Given the description of an element on the screen output the (x, y) to click on. 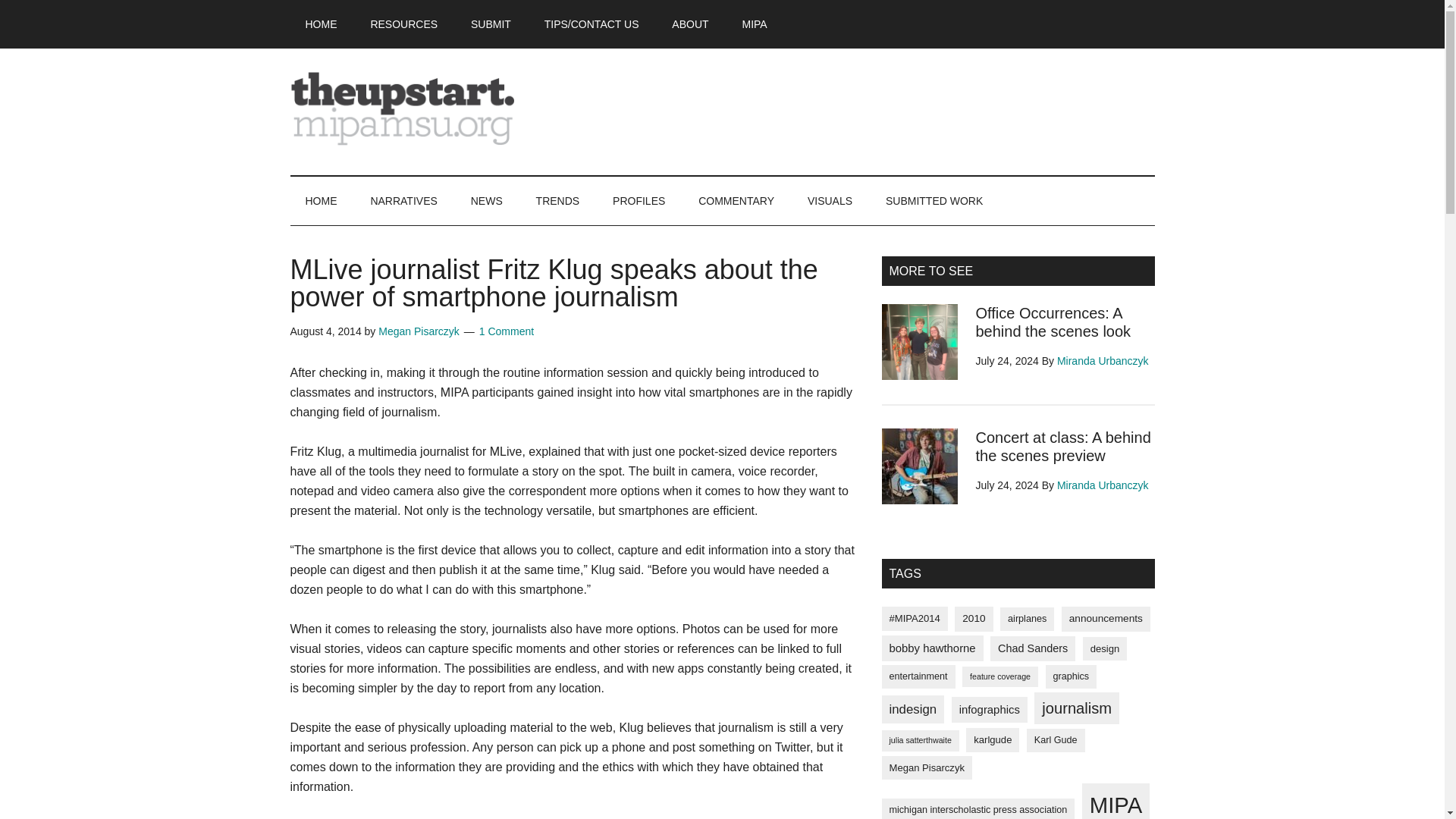
NARRATIVES (403, 200)
1 Comment (506, 331)
COMMENTARY (735, 200)
Megan Pisarczyk (419, 331)
NEWS (486, 200)
SUBMIT (490, 24)
VISUALS (829, 200)
HOME (320, 200)
MIPA (753, 24)
HOME (320, 24)
TRENDS (558, 200)
ABOUT (689, 24)
RESOURCES (403, 24)
PROFILES (637, 200)
